Given the description of an element on the screen output the (x, y) to click on. 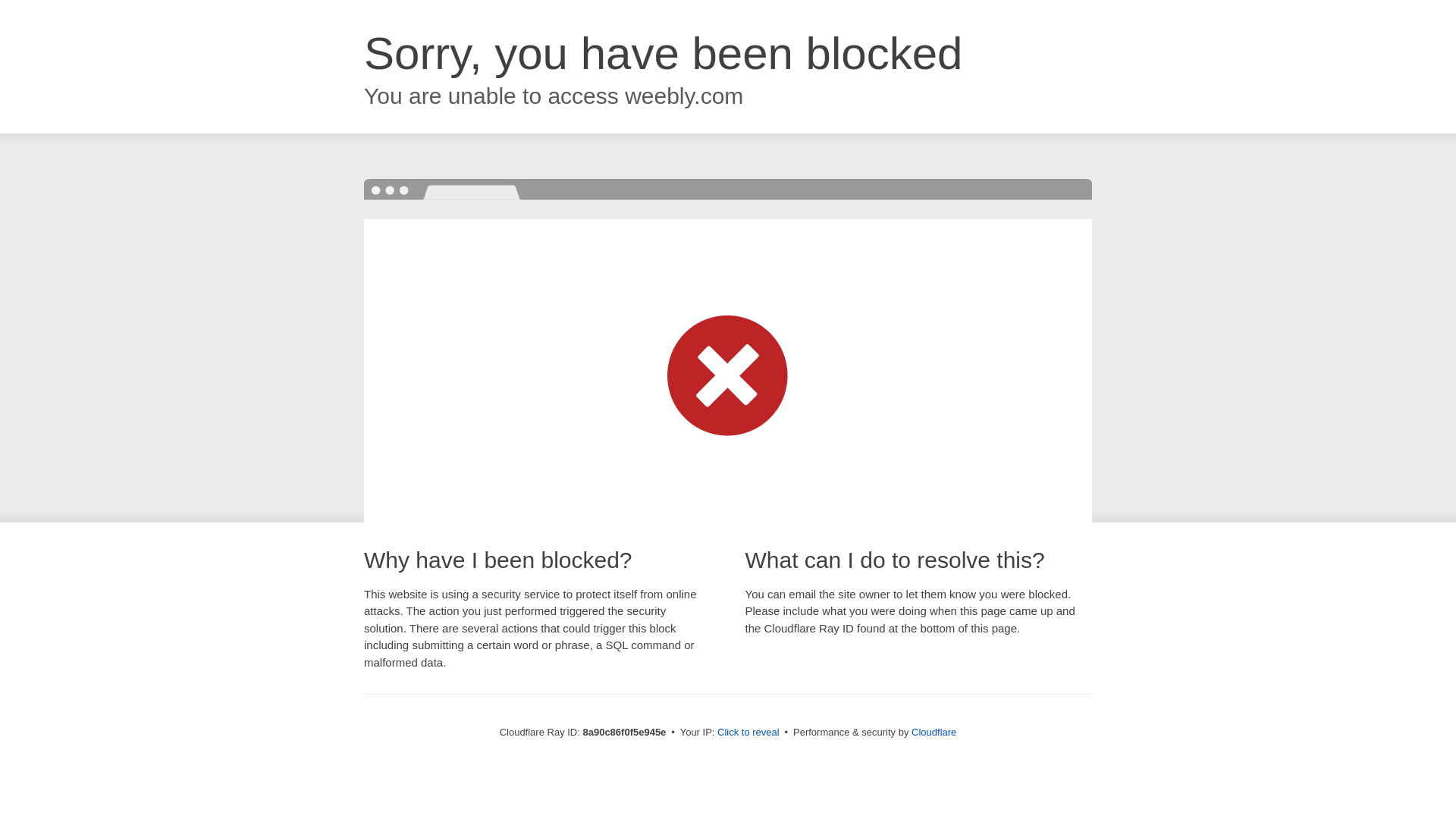
Click to reveal (747, 732)
Cloudflare (933, 731)
